Given the description of an element on the screen output the (x, y) to click on. 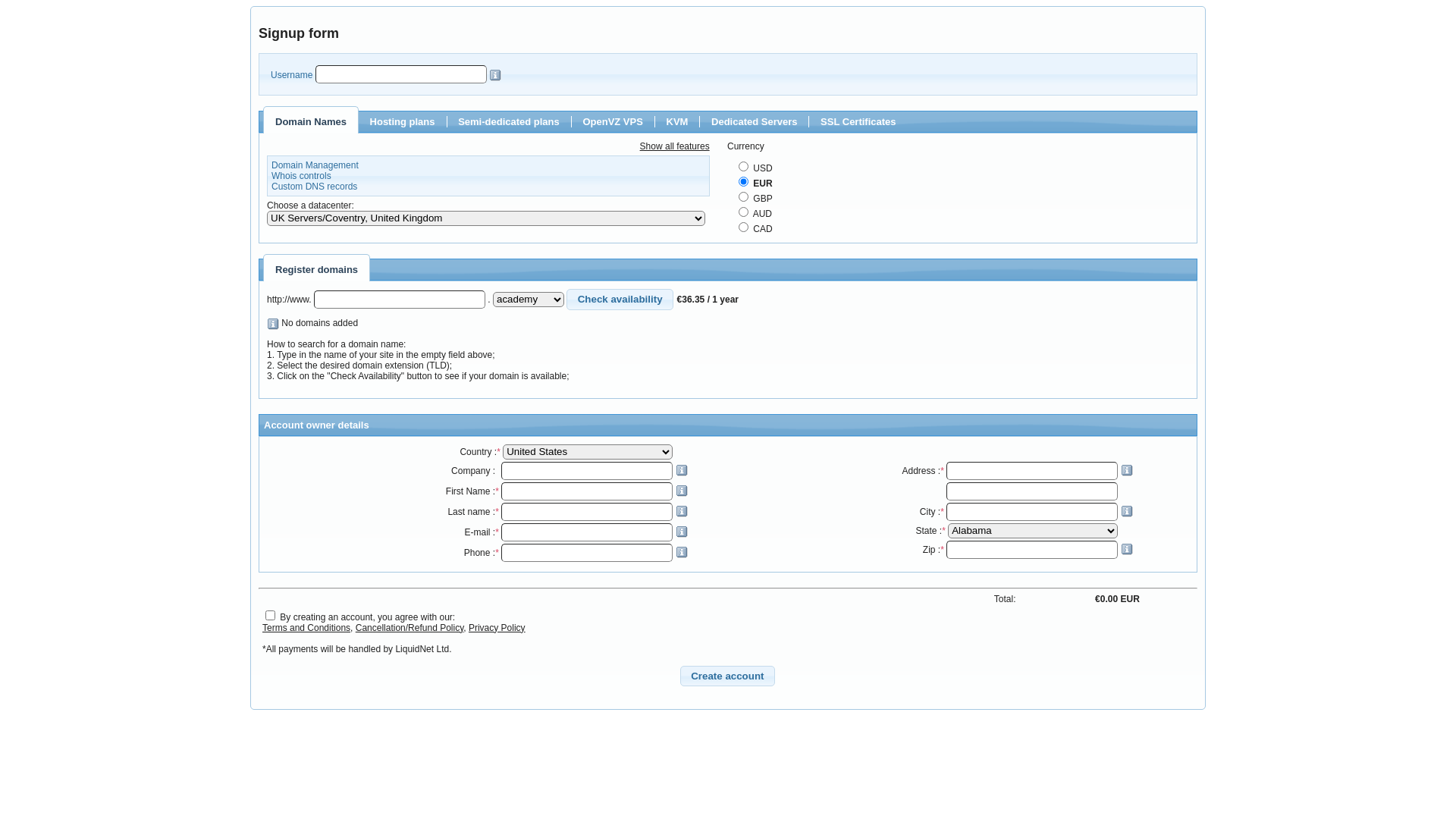
Create account Element type: text (727, 676)
Terms and Conditions Element type: text (306, 627)
Semi-dedicated plans Element type: text (508, 121)
SSL Certificates Element type: text (857, 121)
Domain Names Element type: text (310, 121)
Hosting plans Element type: text (402, 121)
Show all features Element type: text (674, 146)
KVM Element type: text (677, 121)
Cancellation/Refund Policy Element type: text (409, 627)
Dedicated Servers Element type: text (753, 121)
Privacy Policy Element type: text (496, 627)
OpenVZ VPS Element type: text (612, 121)
Register domains Element type: text (316, 269)
Valid email address,<br />e.g. you@my-best-domain.com Element type: hover (680, 531)
